Given the description of an element on the screen output the (x, y) to click on. 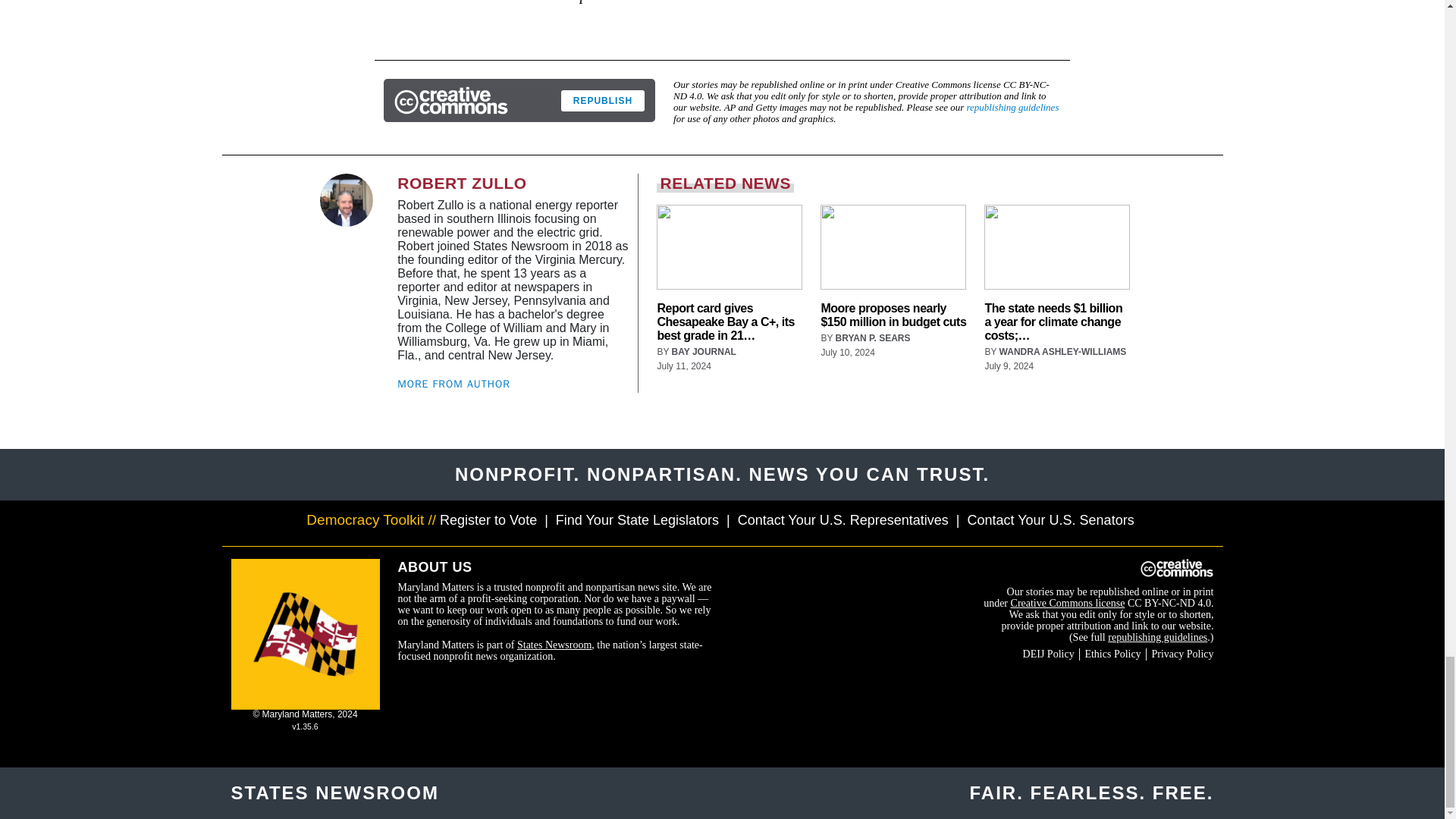
Posts by Bryan P. Sears (873, 337)
Posts by Wandra Ashley-Williams (1062, 351)
Posts by Bay Journal (703, 351)
